Given the description of an element on the screen output the (x, y) to click on. 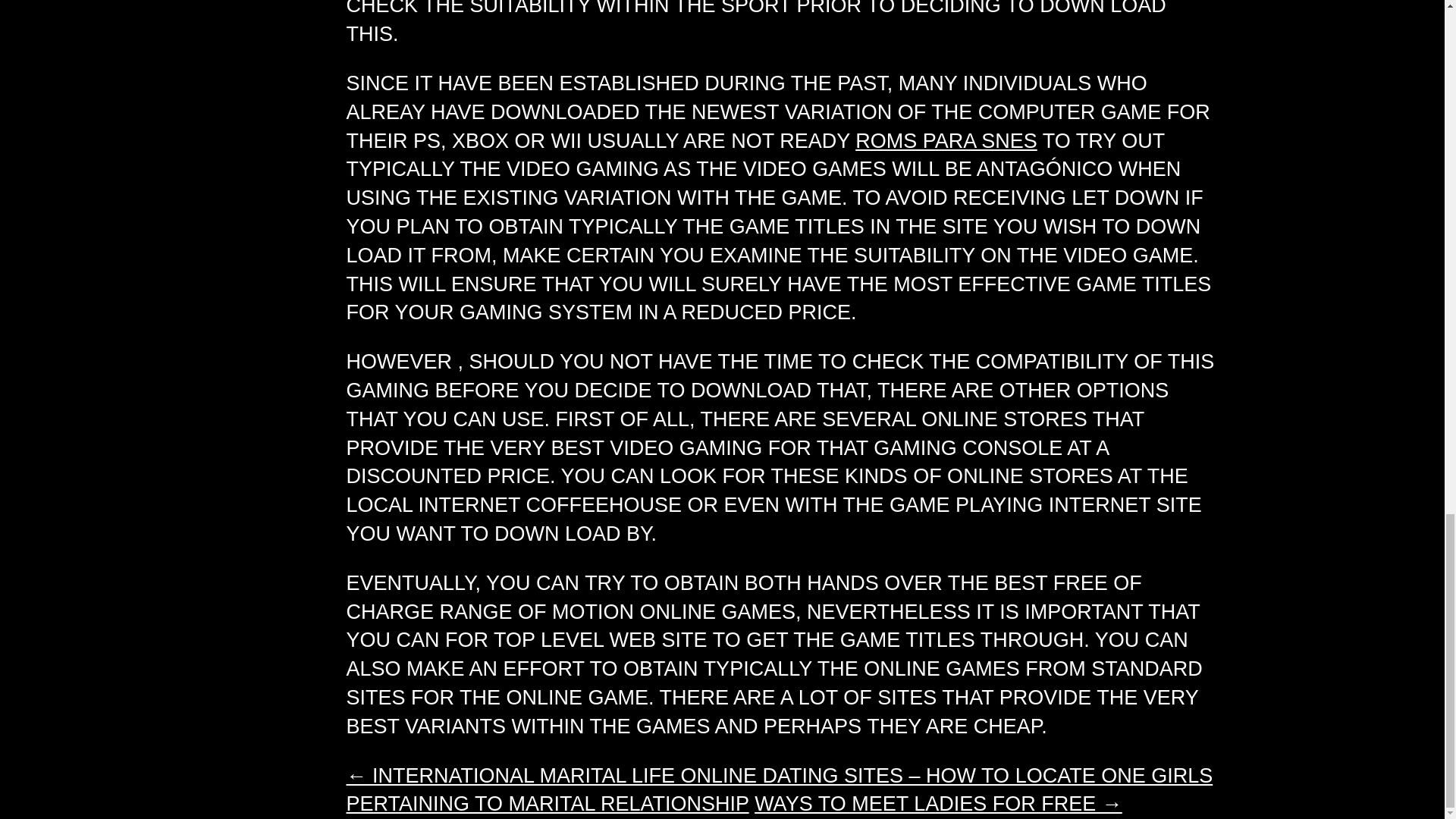
ROMS PARA SNES (946, 140)
